Given the description of an element on the screen output the (x, y) to click on. 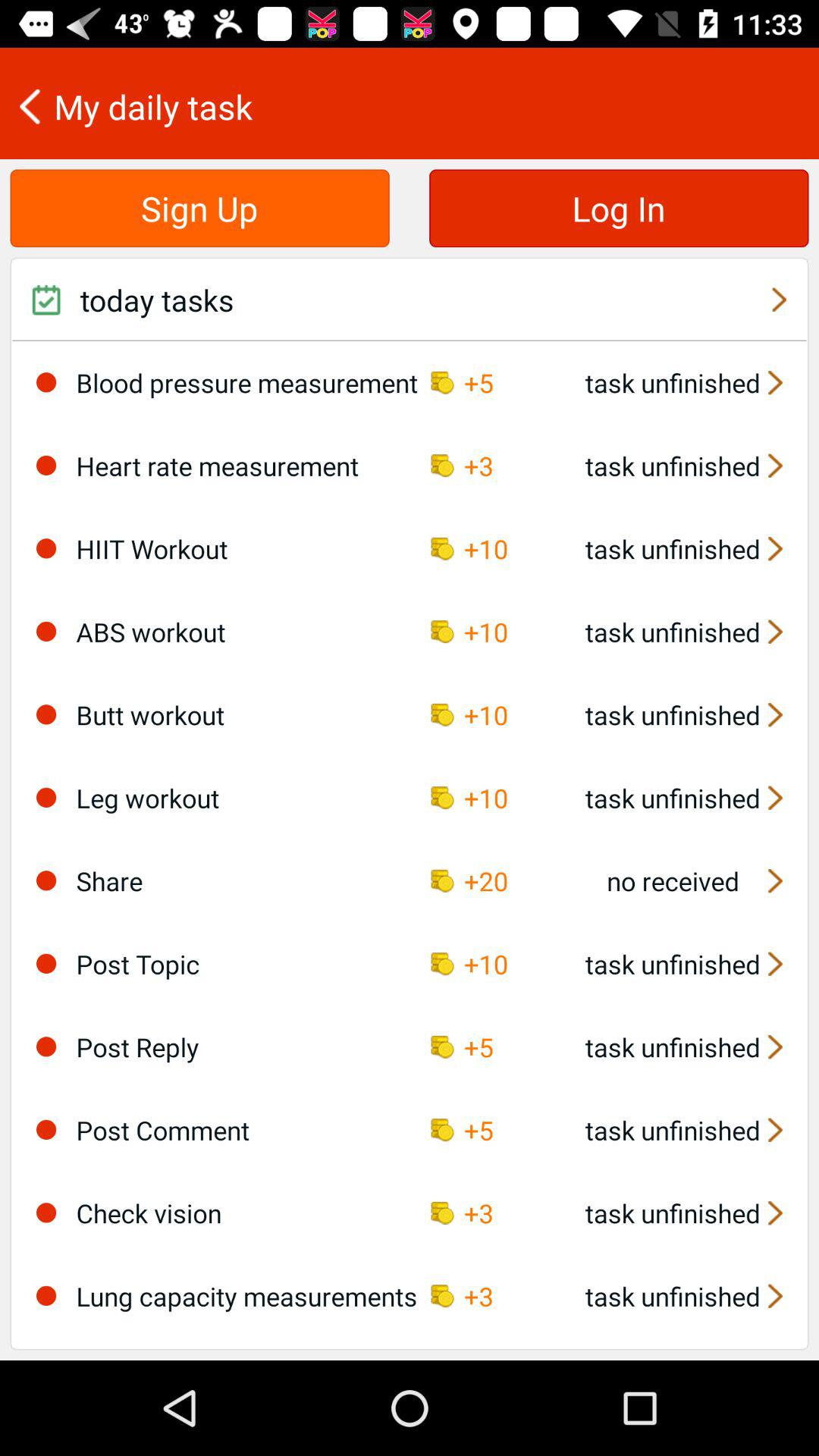
select icon above the today tasks (618, 208)
